Given the description of an element on the screen output the (x, y) to click on. 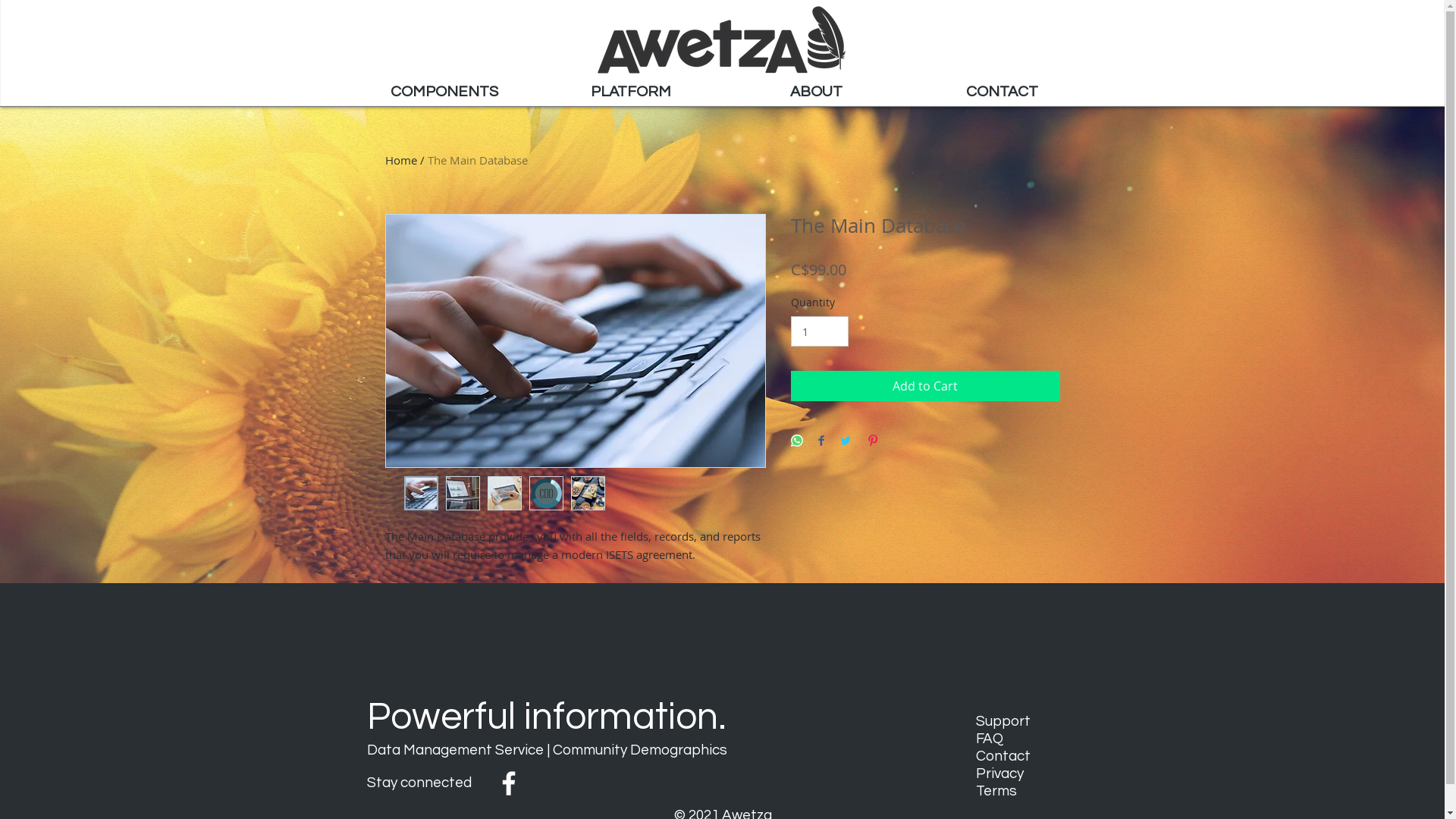
PLATFORM Element type: text (629, 92)
Contact Element type: text (1002, 756)
CONTACT Element type: text (1001, 92)
COMPONENTS Element type: text (444, 92)
Add to Cart Element type: text (924, 385)
Support Element type: text (1002, 721)
ABOUT Element type: text (816, 92)
The Main Database Element type: text (477, 159)
Home Element type: text (401, 159)
